Given the description of an element on the screen output the (x, y) to click on. 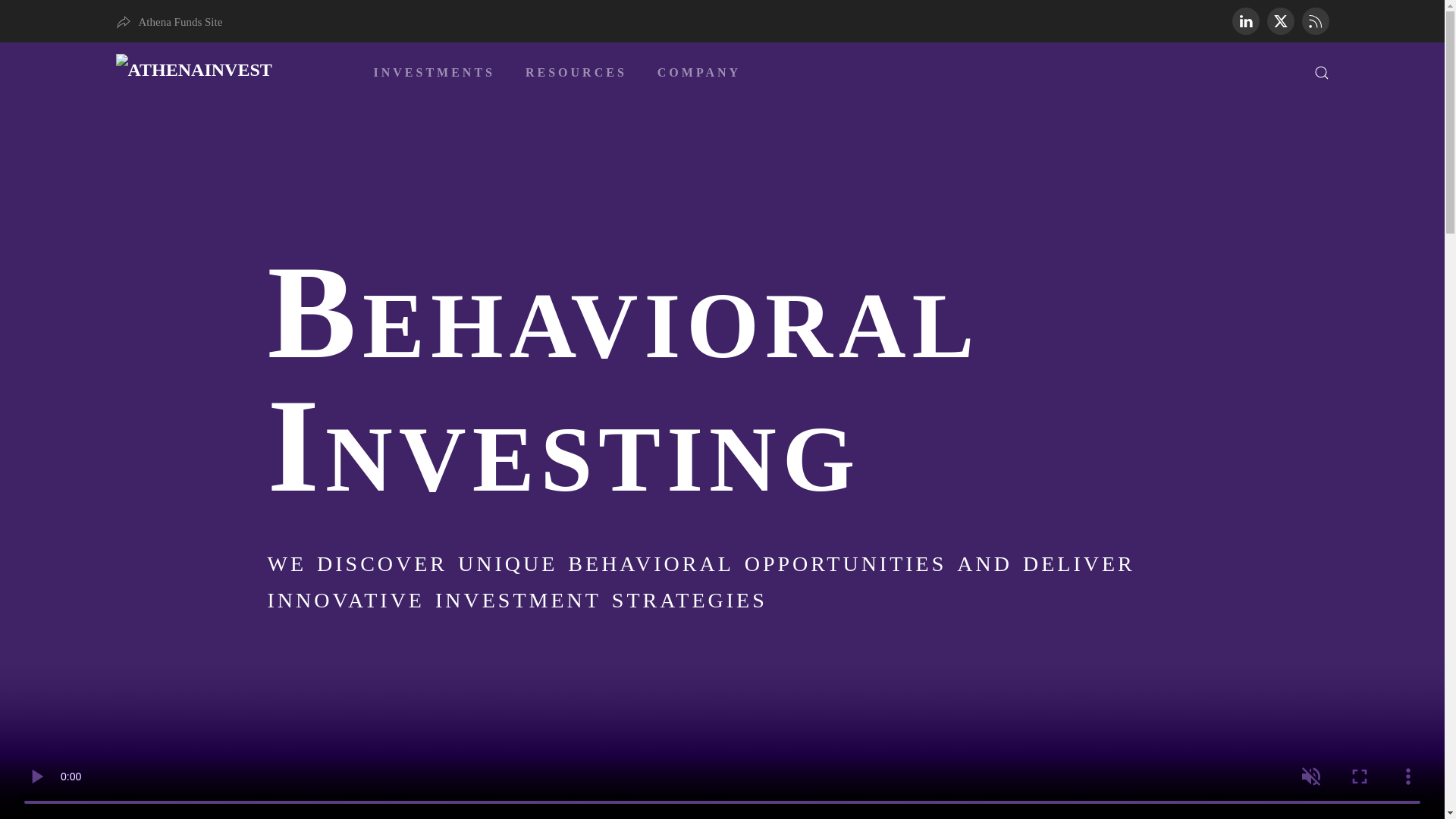
RESOURCES (576, 72)
Athena Funds Site (168, 21)
COMPANY (699, 72)
INVESTMENTS (433, 72)
